Given the description of an element on the screen output the (x, y) to click on. 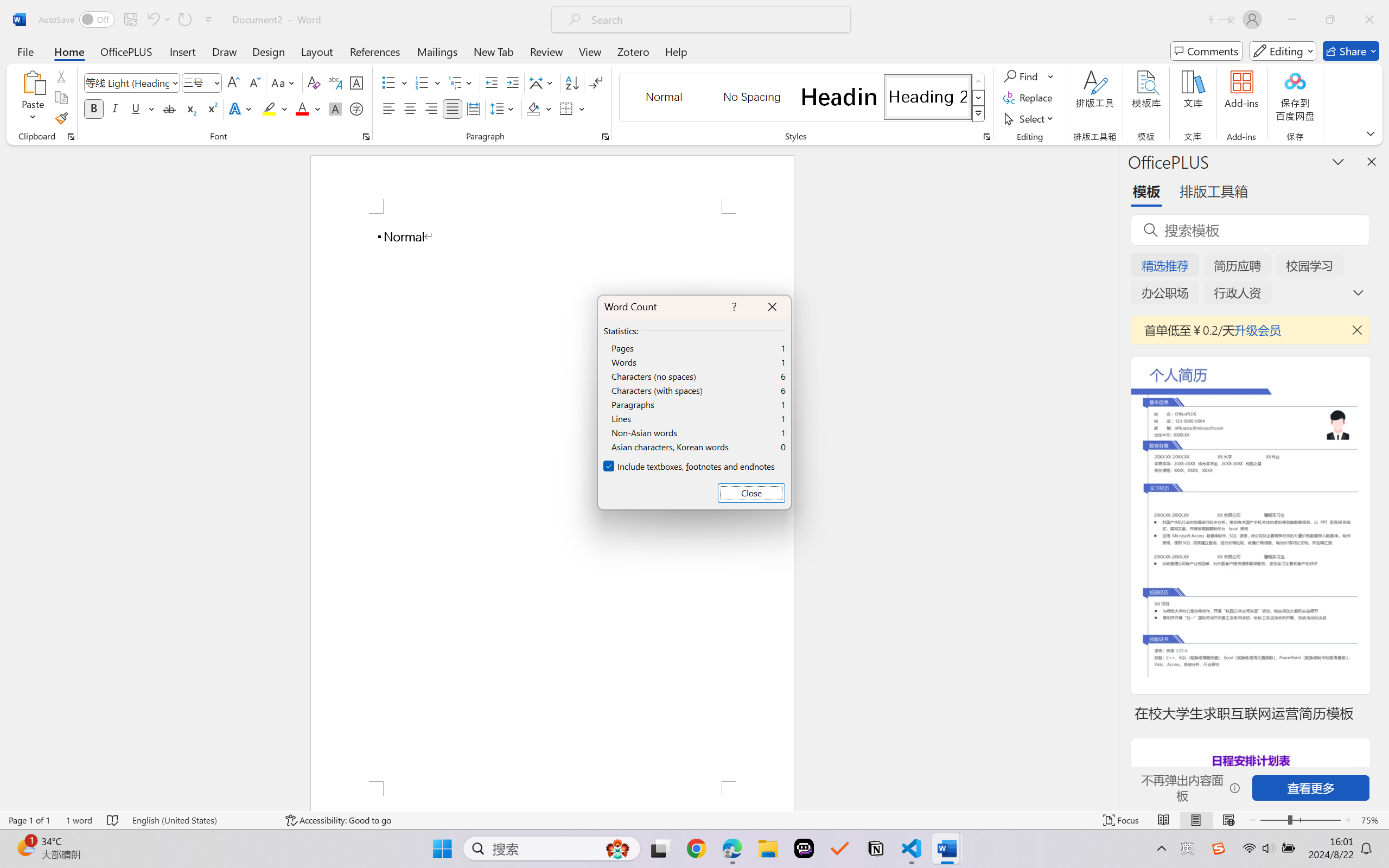
Insert (182, 51)
Paste (33, 81)
Poe (804, 848)
Clear Formatting (313, 82)
Class: MsoCommandBar (694, 819)
Styles (978, 113)
Line and Paragraph Spacing (503, 108)
Review (546, 51)
Class: Image (1218, 847)
Page Number Page 1 of 1 (29, 819)
Zoom In (1348, 819)
Zotero (632, 51)
